Given the description of an element on the screen output the (x, y) to click on. 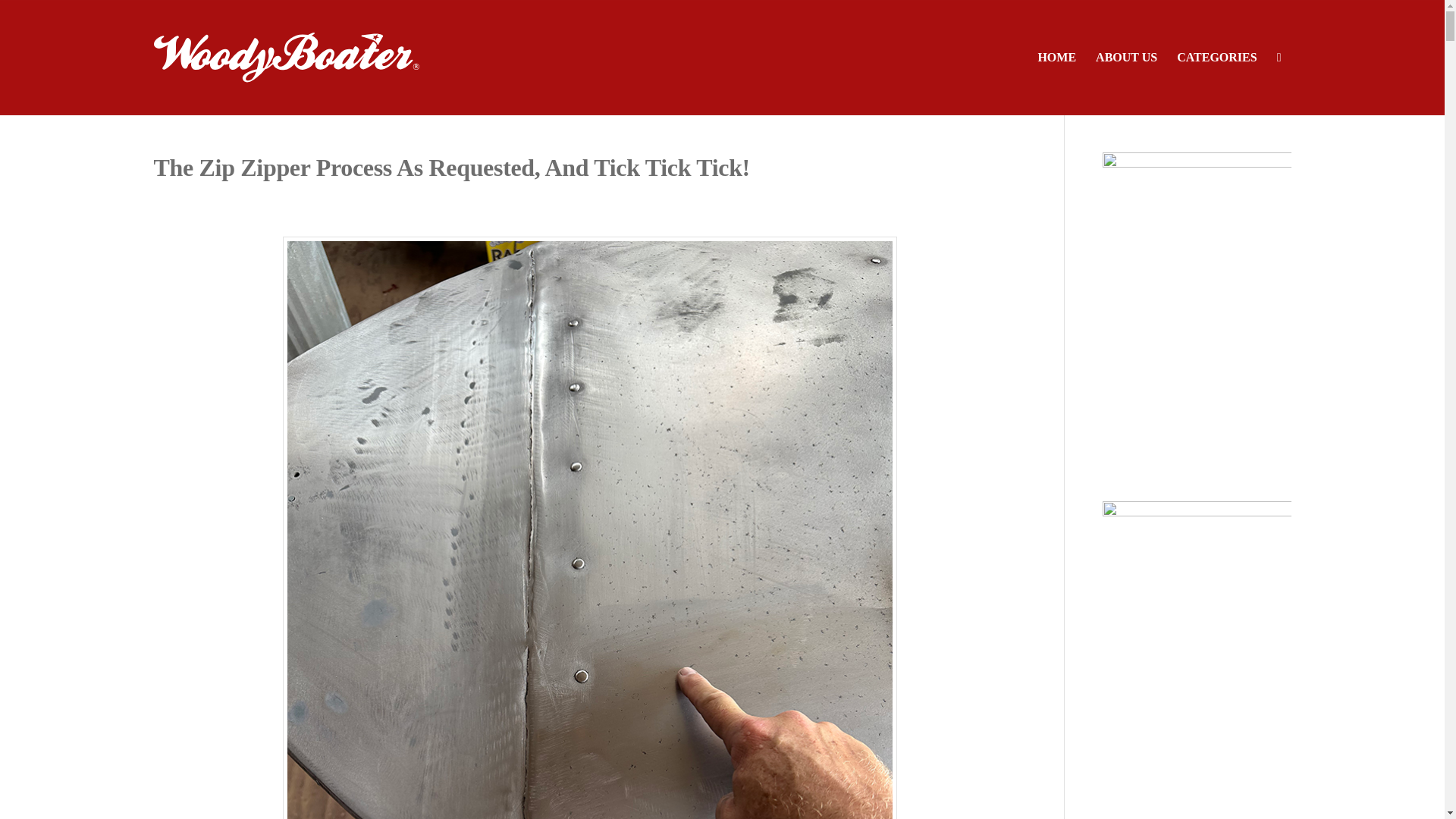
Woodyboater Logo-White (285, 57)
